Given the description of an element on the screen output the (x, y) to click on. 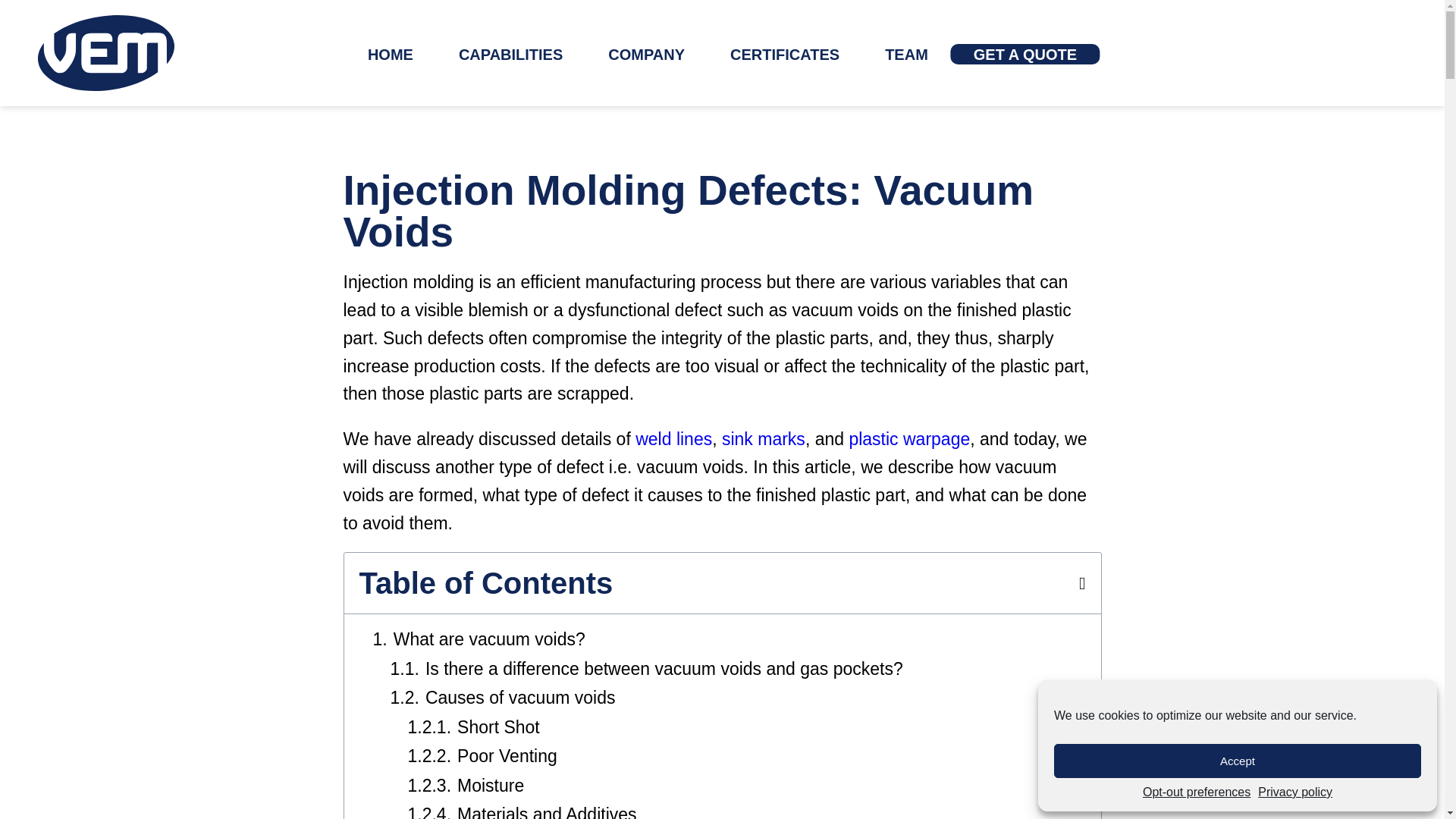
CAPABILITIES (510, 54)
Accept (1237, 760)
COMPANY (646, 54)
Privacy policy (1294, 792)
HOME (390, 54)
Opt-out preferences (1196, 792)
